Given the description of an element on the screen output the (x, y) to click on. 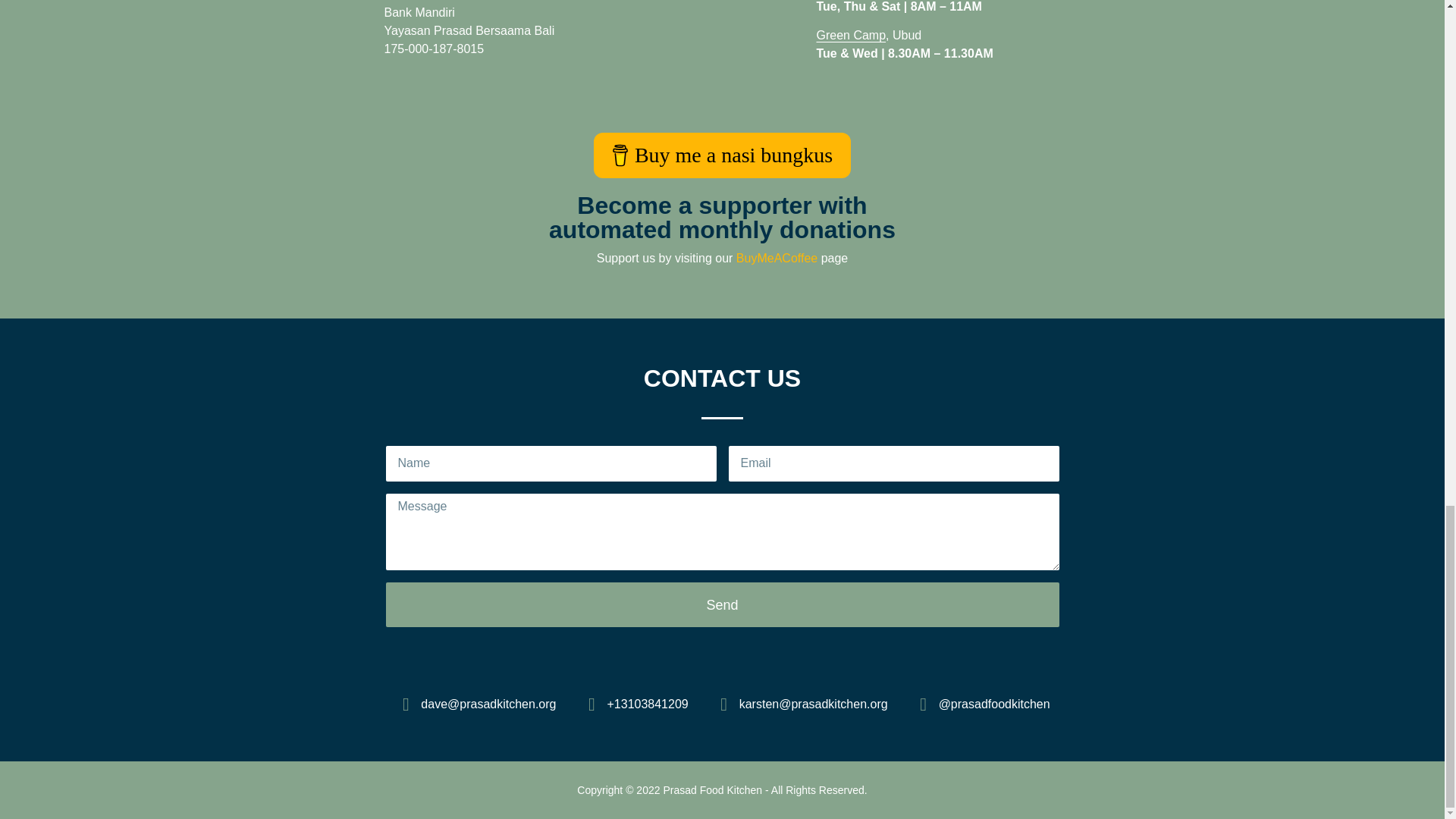
Green Camp (850, 34)
BuyMeACoffee (721, 217)
Send (778, 257)
Buy me a nasi bungkus (721, 604)
